Given the description of an element on the screen output the (x, y) to click on. 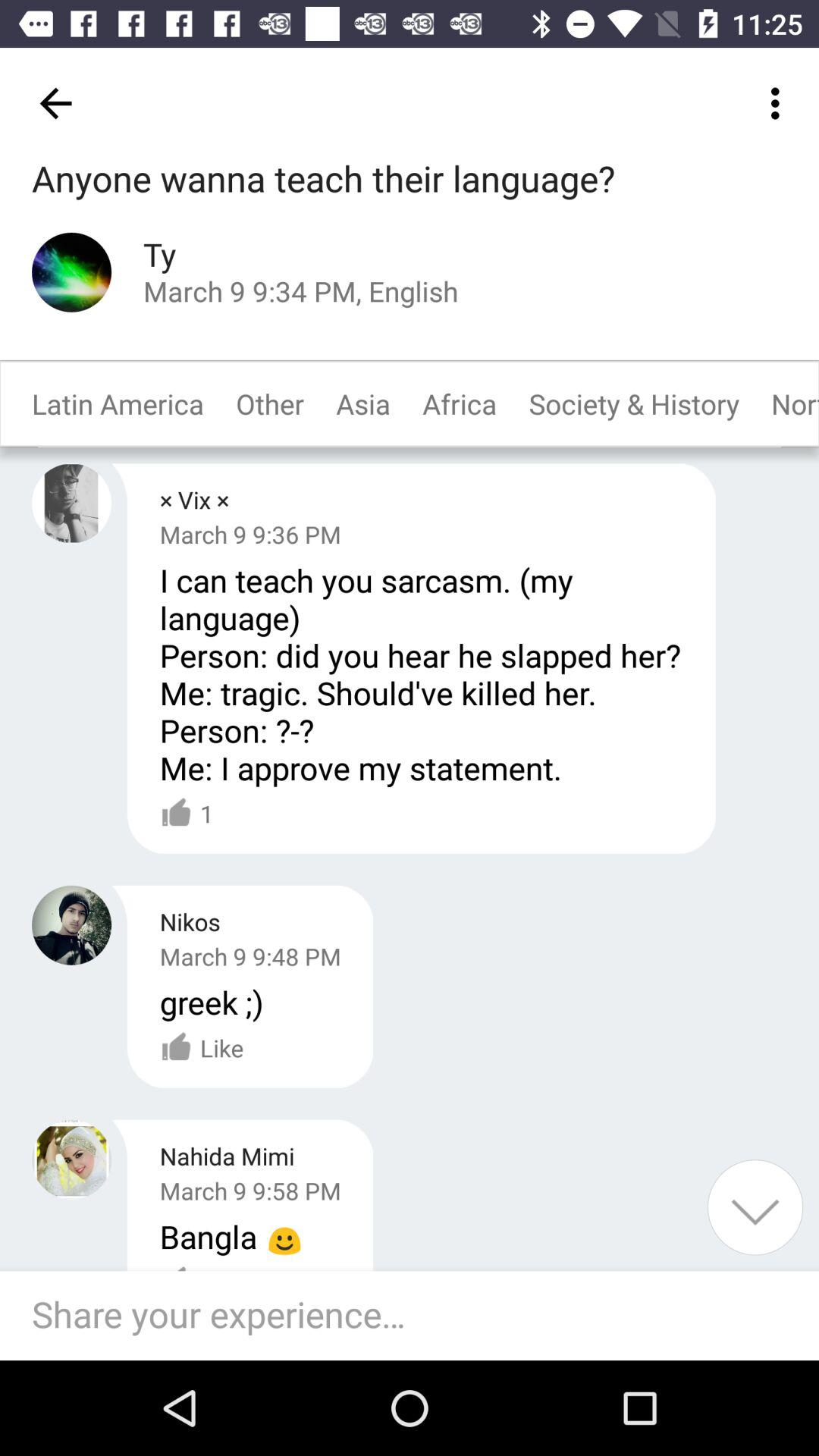
scroll to the greek ;) icon (211, 1001)
